Given the description of an element on the screen output the (x, y) to click on. 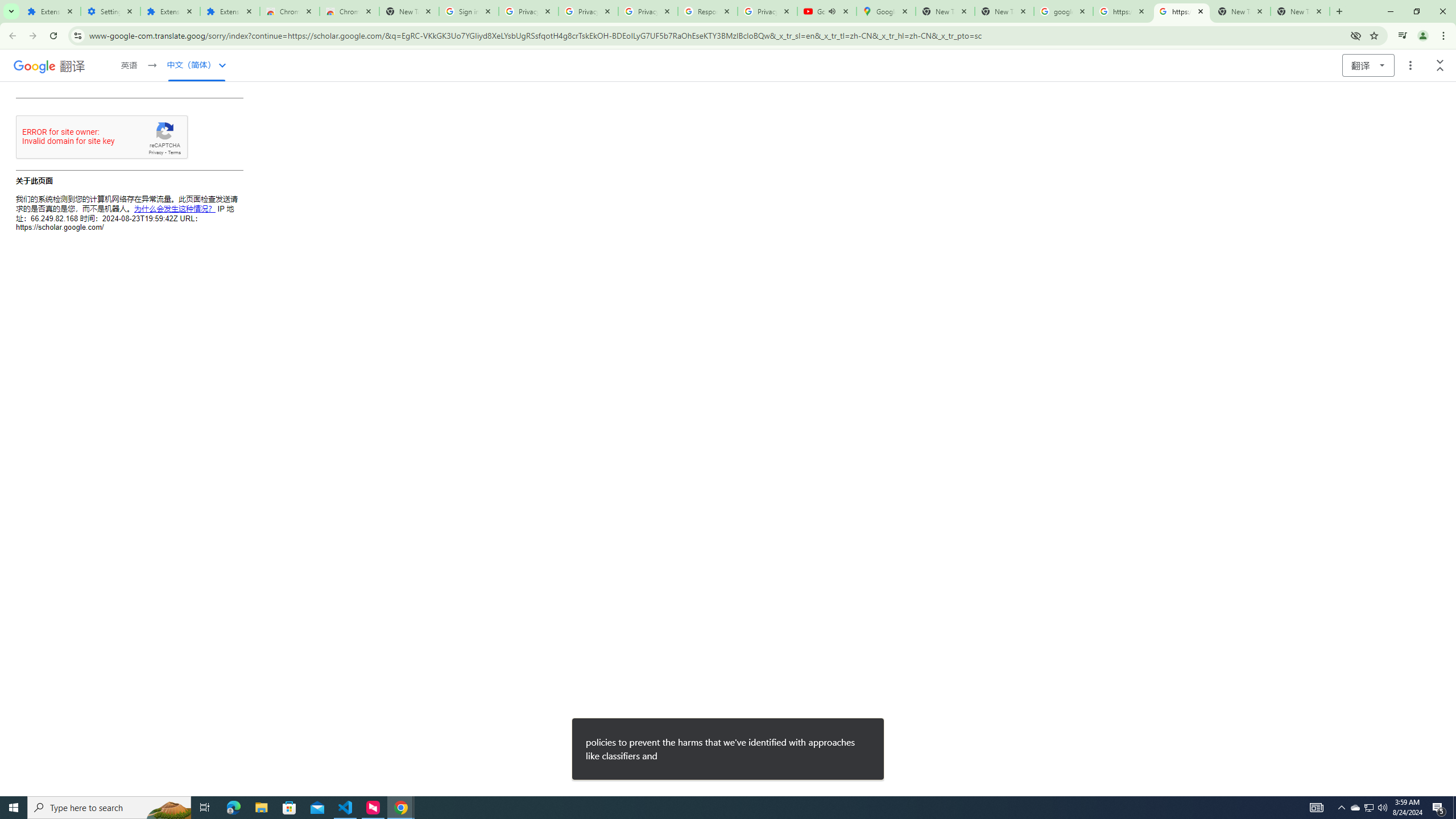
Settings (110, 11)
